Given the description of an element on the screen output the (x, y) to click on. 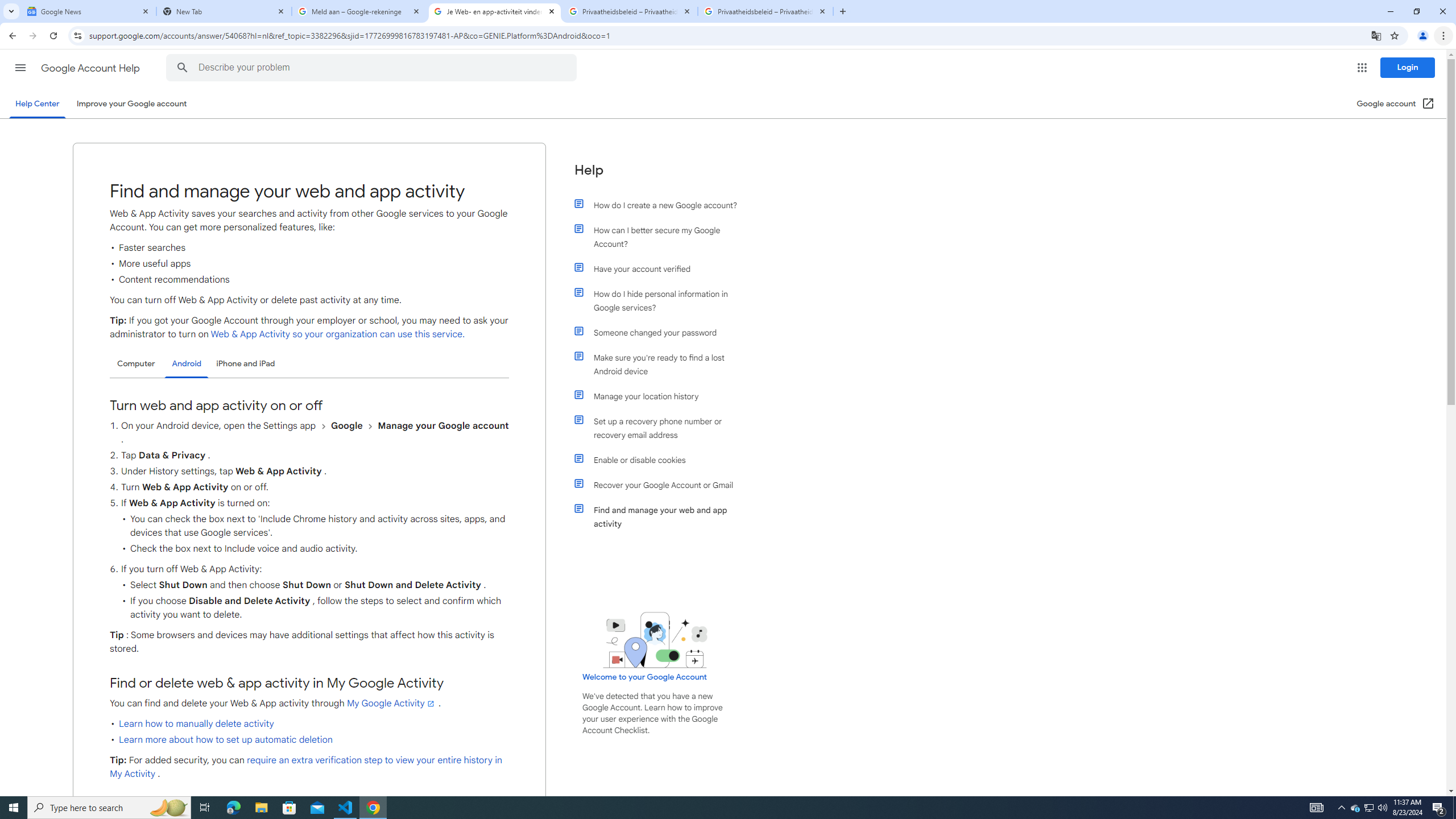
Search tabs (10, 11)
Forward (32, 35)
Learn more about how to set up automatic deletion (226, 739)
Chrome (1445, 35)
Find and manage your web and app activity (661, 516)
How do I hide personal information in Google services? (661, 300)
Describe your problem (373, 67)
Login (1407, 67)
Help Center (36, 103)
Welcome to your Google Account (644, 676)
Reload (52, 35)
Recover your Google Account or Gmail (661, 484)
